Given the description of an element on the screen output the (x, y) to click on. 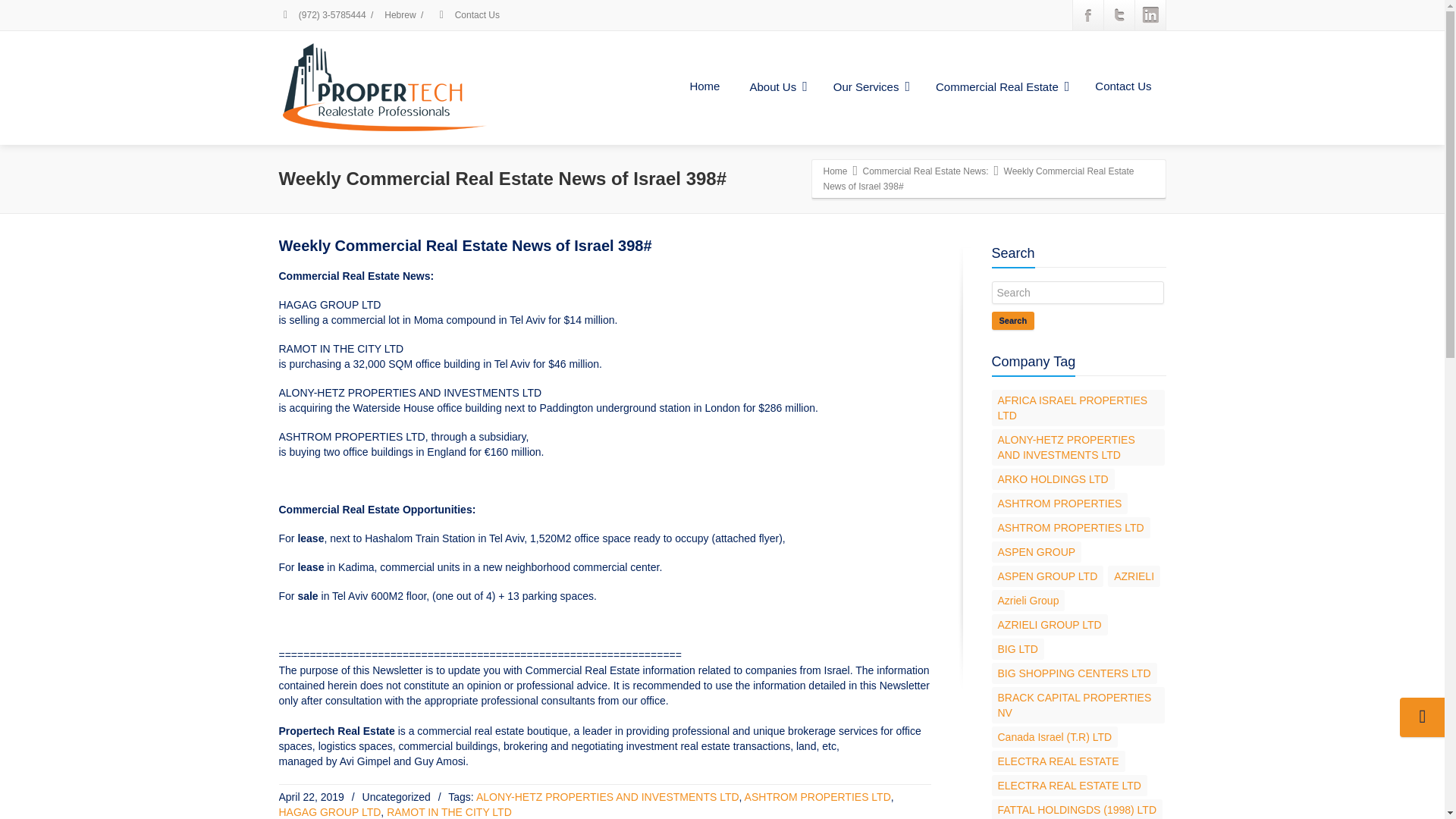
ALONY-HETZ PROPERTIES AND INVESTMENTS LTD (607, 797)
Facebook (1086, 15)
About Us (775, 87)
Home (835, 171)
Contact Us (476, 14)
Contact Us (1123, 86)
RAMOT IN THE CITY LTD (449, 811)
HAGAG GROUP LTD (330, 811)
Commercial Real Estate News: (925, 171)
ASHTROM PROPERTIES LTD (817, 797)
Home (704, 86)
Our Services (869, 87)
Hebrew (399, 14)
Linkedin (1149, 15)
Twitter (1118, 15)
